Given the description of an element on the screen output the (x, y) to click on. 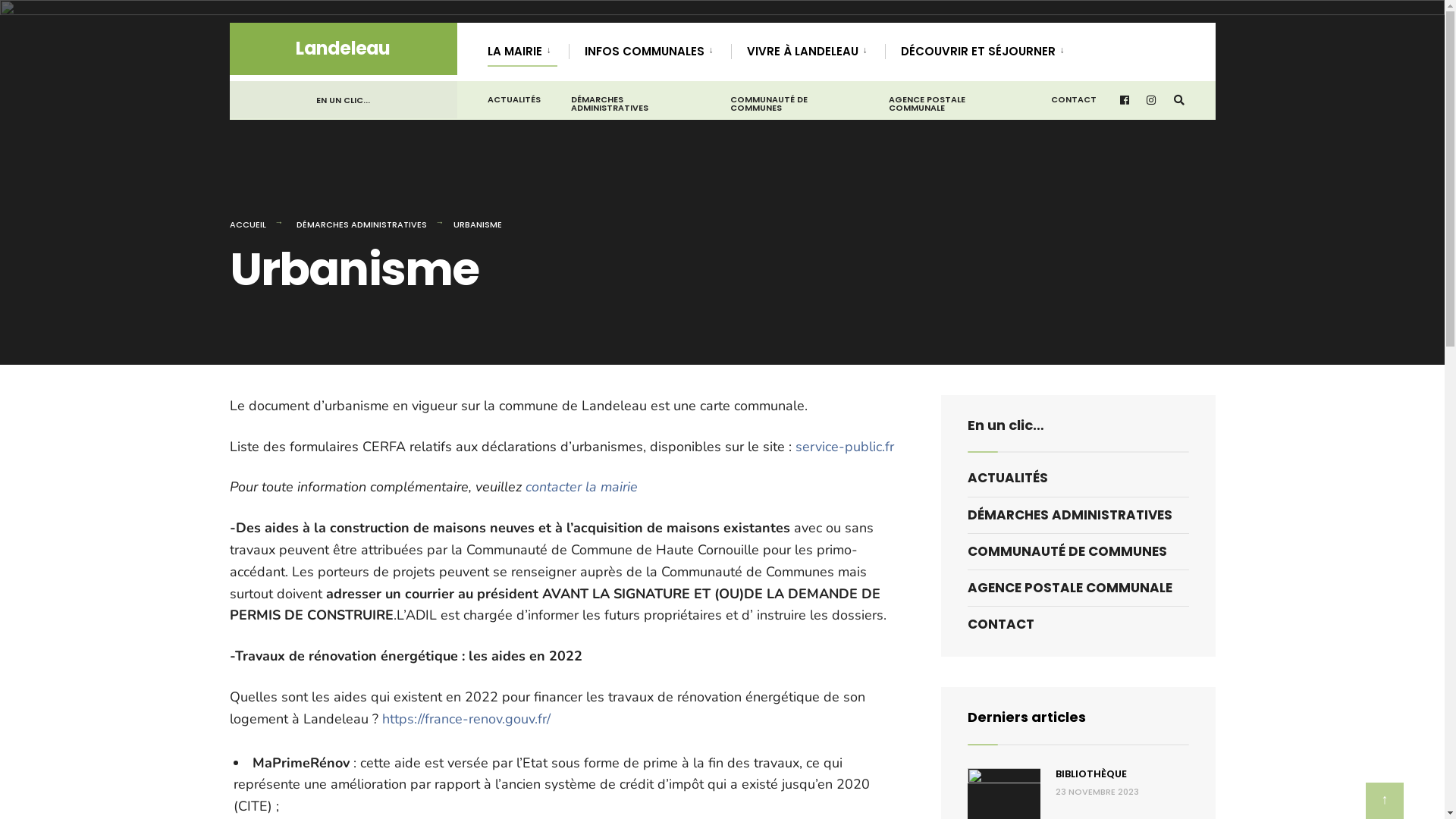
Derniers articles Element type: text (1026, 716)
LA MAIRIE Element type: text (521, 50)
INFOS COMMUNALES Element type: text (650, 50)
AGENCE POSTALE COMMUNALE Element type: text (954, 100)
CONTACT Element type: text (1078, 624)
https://france-renov.gouv.fr/ Element type: text (466, 718)
Landeleau Element type: text (342, 47)
Skip to content Element type: text (229, 21)
ACCUEIL Element type: text (247, 224)
CONTACT Element type: text (1073, 96)
AGENCE POSTALE COMMUNALE Element type: text (1078, 587)
service-public.fr Element type: text (843, 446)
contacter la mairie Element type: text (580, 486)
